Given the description of an element on the screen output the (x, y) to click on. 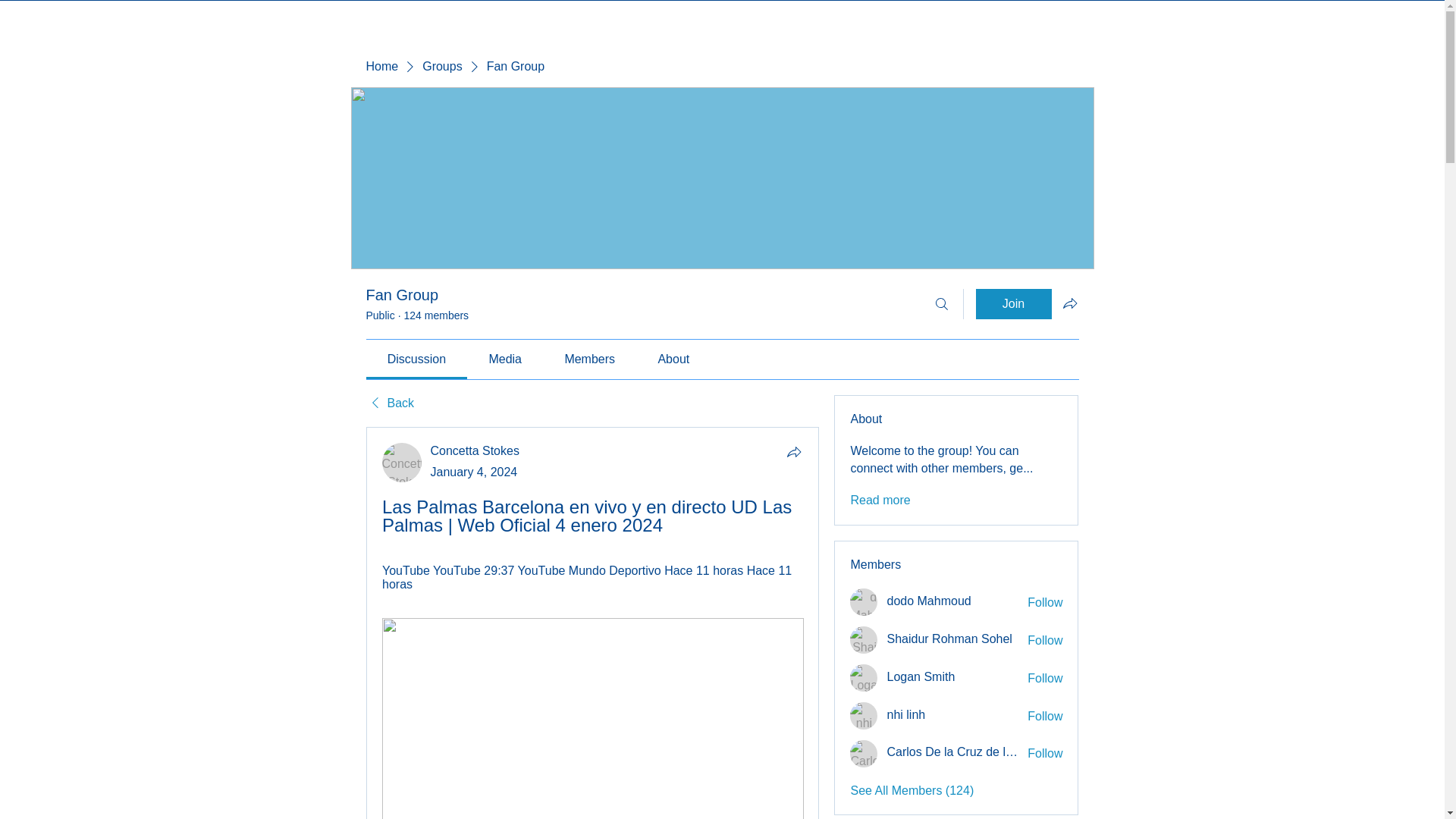
Concetta Stokes (474, 450)
Concetta Stokes (401, 462)
nhi linh (863, 715)
Shaidur Rohman Sohel (948, 638)
Logan Smith (863, 677)
dodo Mahmoud (928, 600)
Follow (1044, 716)
Read more (880, 500)
Carlos De la Cruz de la Rosa (951, 751)
nhi linh (905, 714)
